Given the description of an element on the screen output the (x, y) to click on. 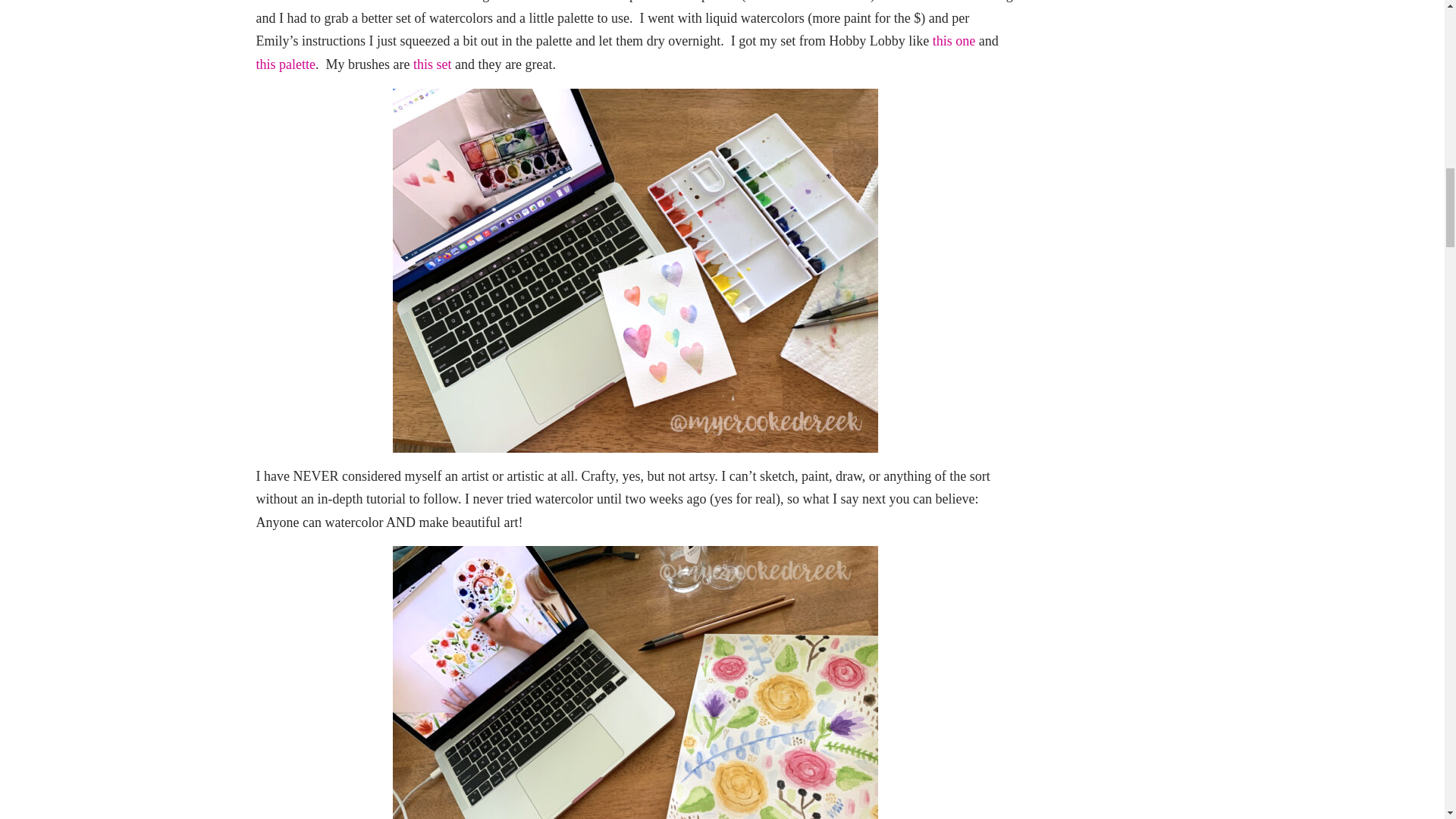
this palette (285, 64)
this set (432, 64)
this one (954, 40)
